Given the description of an element on the screen output the (x, y) to click on. 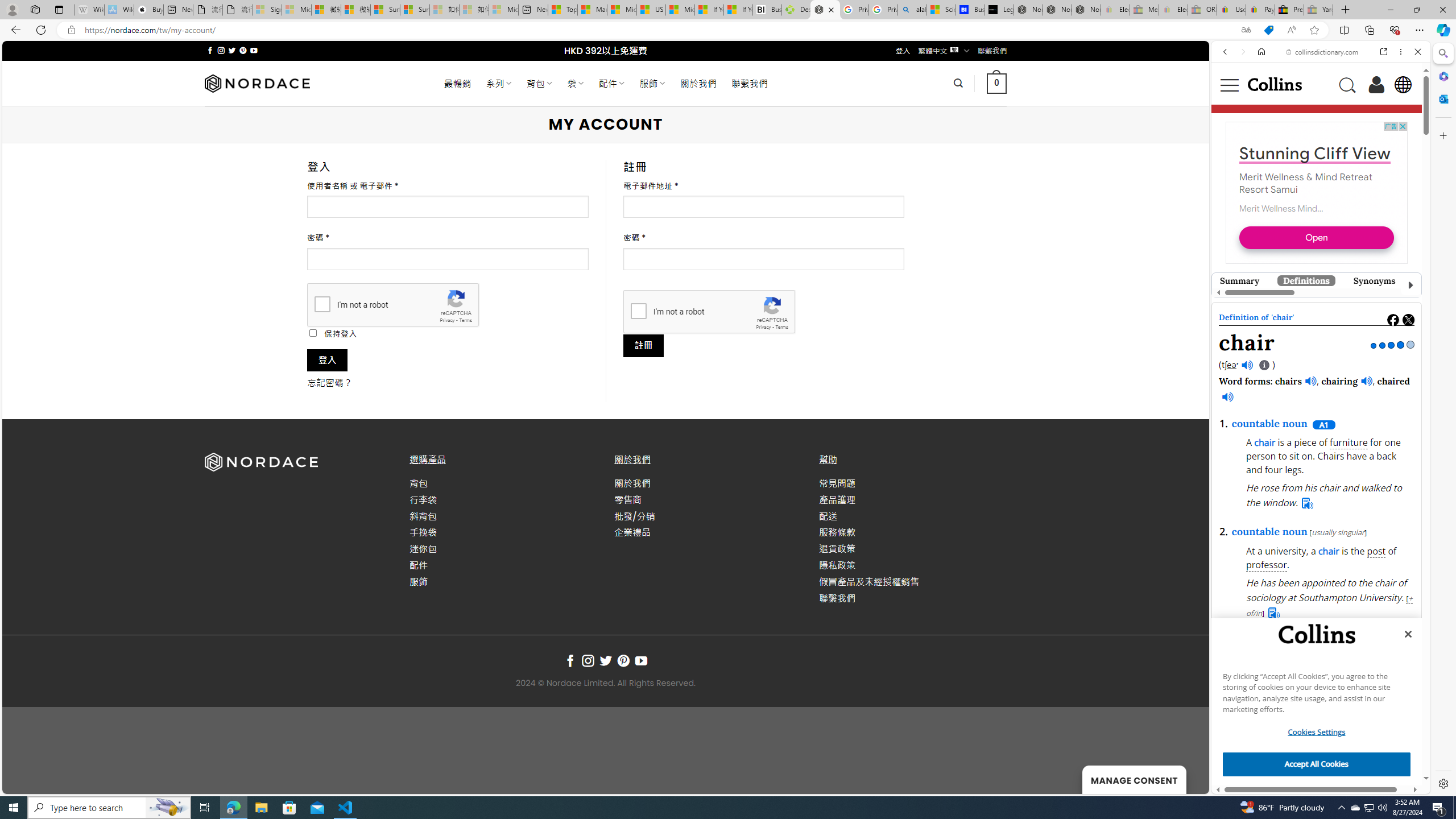
Cookies Settings (1316, 731)
Open (1312, 540)
Define (1382, 184)
Log In (1376, 84)
Sign in to your Microsoft account - Sleeping (266, 9)
